Given the description of an element on the screen output the (x, y) to click on. 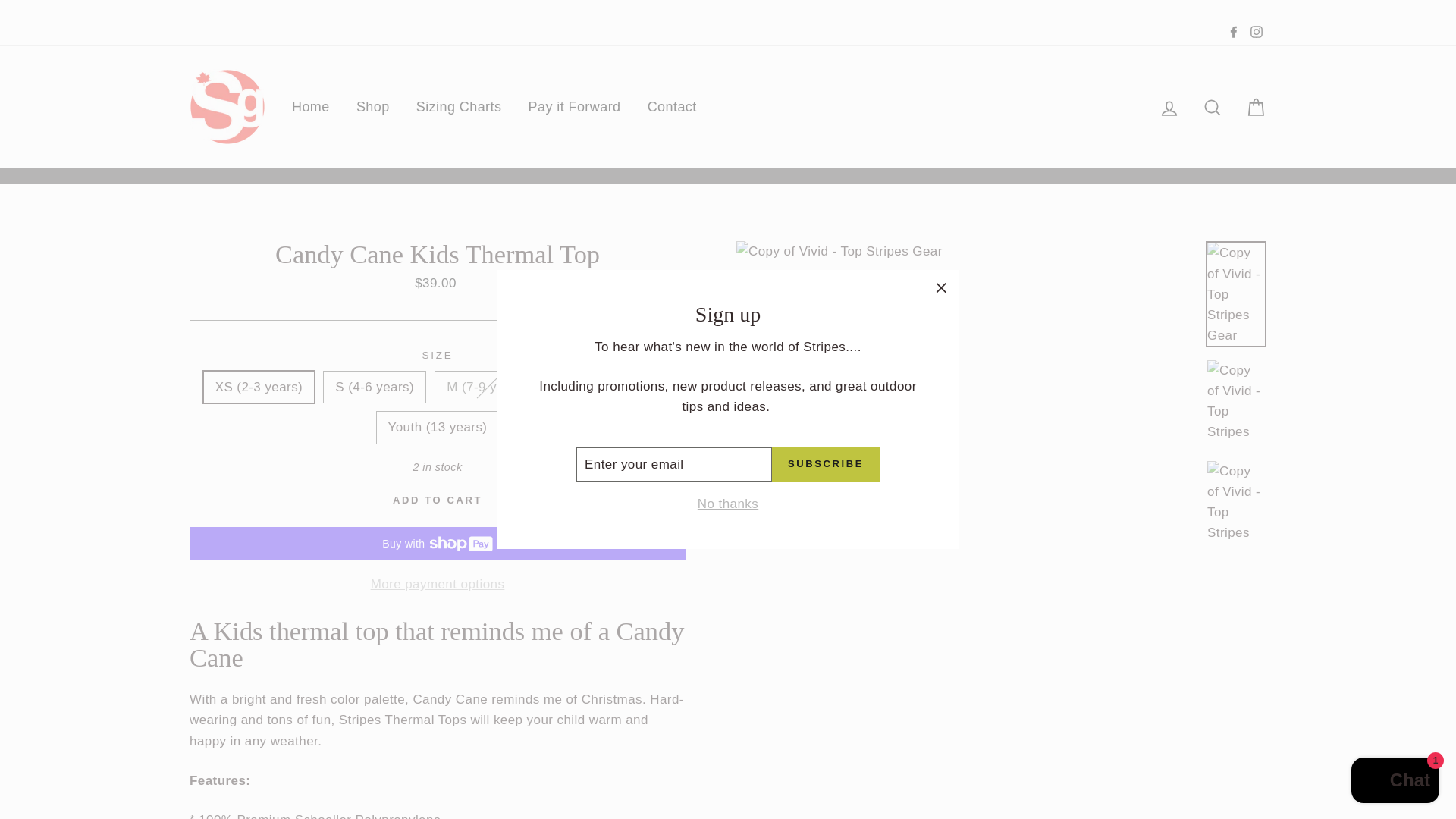
Sizing Charts (458, 106)
Pay it Forward (573, 106)
Contact (671, 106)
Shopify online store chat (1395, 781)
ADD TO CART (437, 500)
Home (310, 106)
Log in (1169, 106)
Cart (1255, 106)
Search (1211, 106)
Shop (373, 106)
More payment options (437, 584)
